Given the description of an element on the screen output the (x, y) to click on. 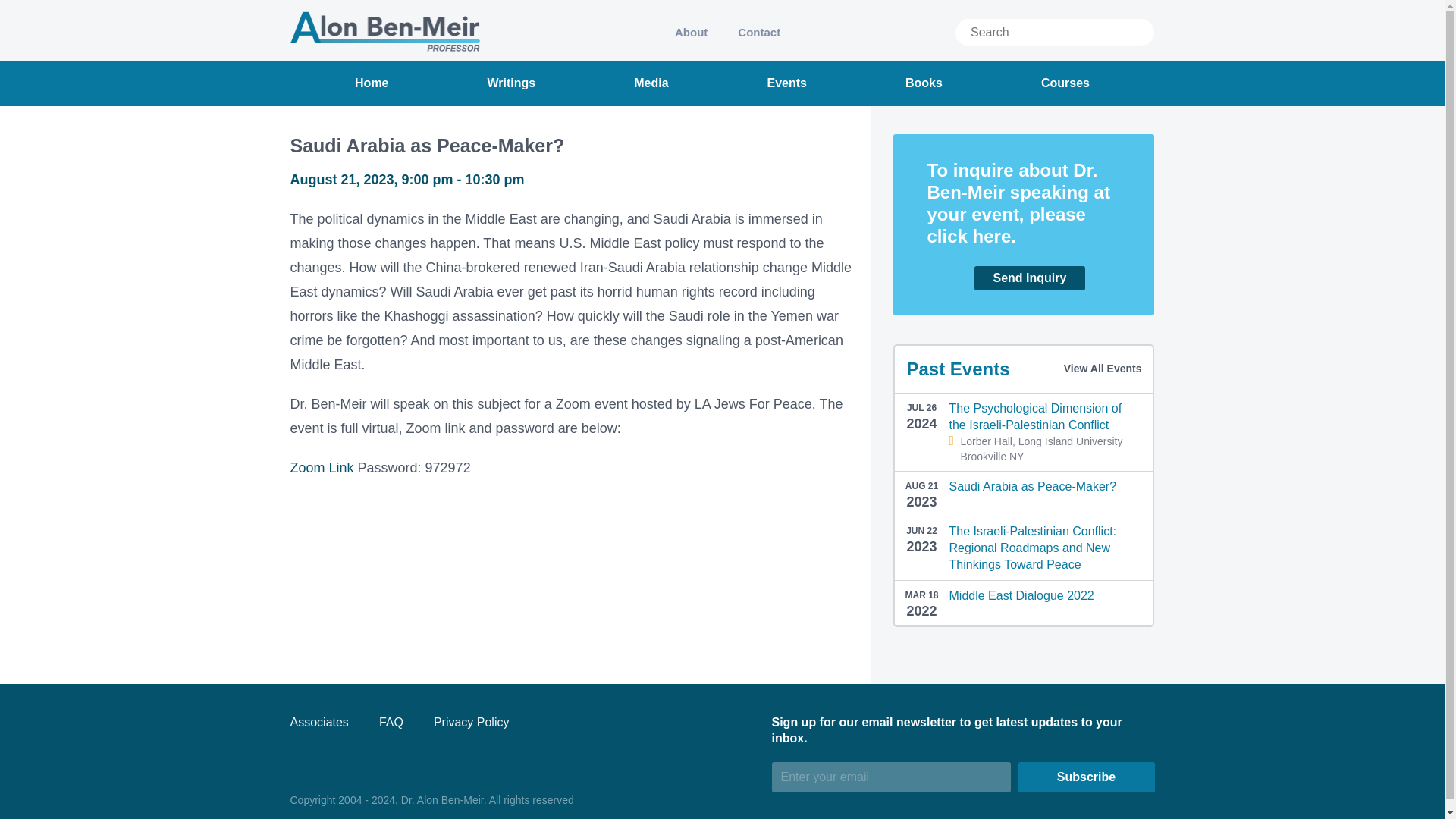
Media (651, 83)
Associates (318, 722)
Subscribe (1085, 777)
Events (786, 83)
Writings (511, 83)
Zoom Link (321, 467)
Middle East Dialogue 2022 (1021, 594)
Contact (758, 31)
About (690, 31)
Home (371, 83)
FAQ (390, 722)
Send Inquiry (1022, 278)
Courses (1064, 83)
